Given the description of an element on the screen output the (x, y) to click on. 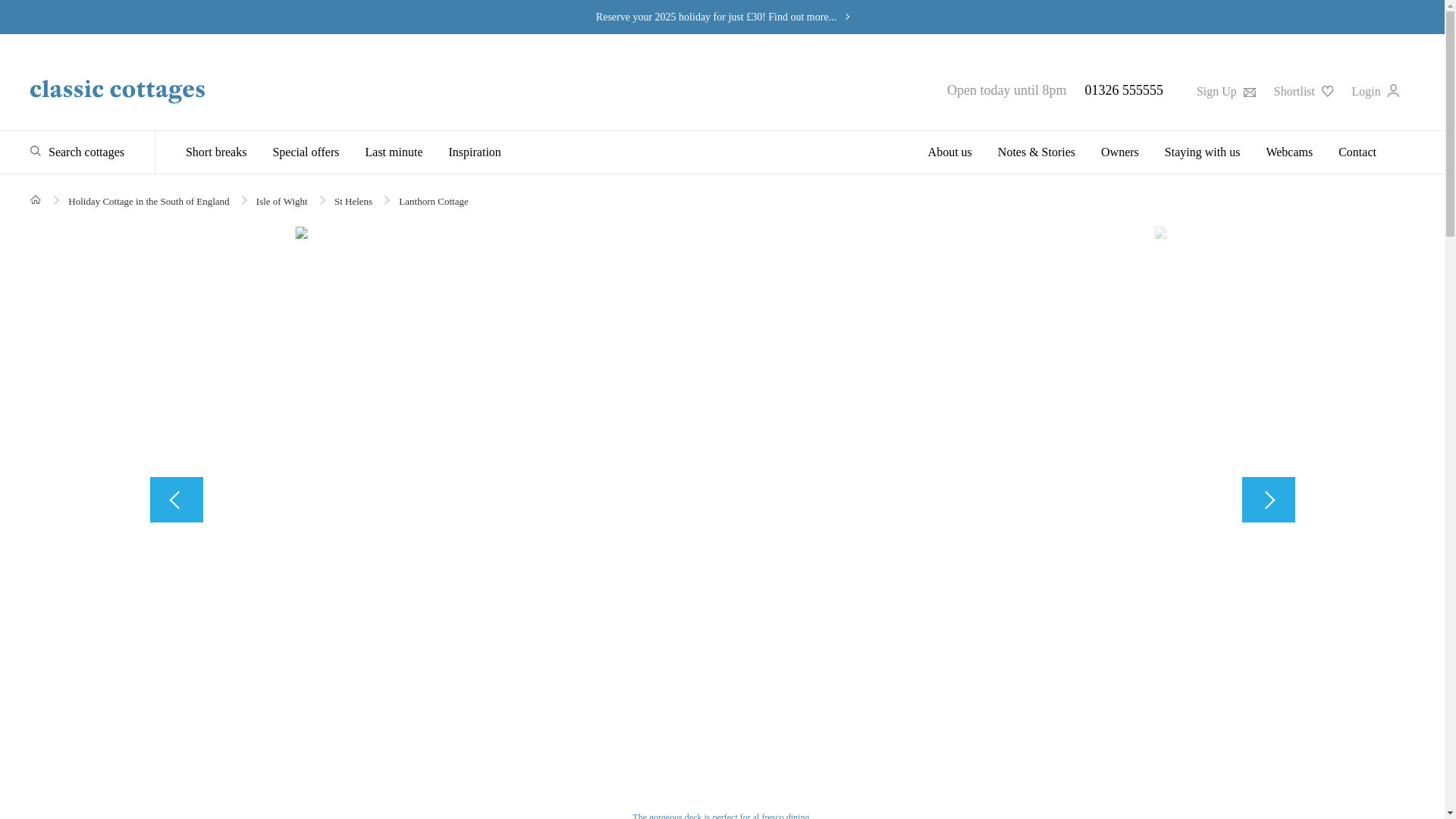
Contact (1350, 152)
Staying with us (1202, 152)
Search cottages (76, 152)
Inspiration (474, 152)
Special offers (305, 152)
Login (1375, 91)
Sign up (1225, 91)
Short breaks (221, 152)
Isle of Wight (281, 201)
About us (950, 152)
